Given the description of an element on the screen output the (x, y) to click on. 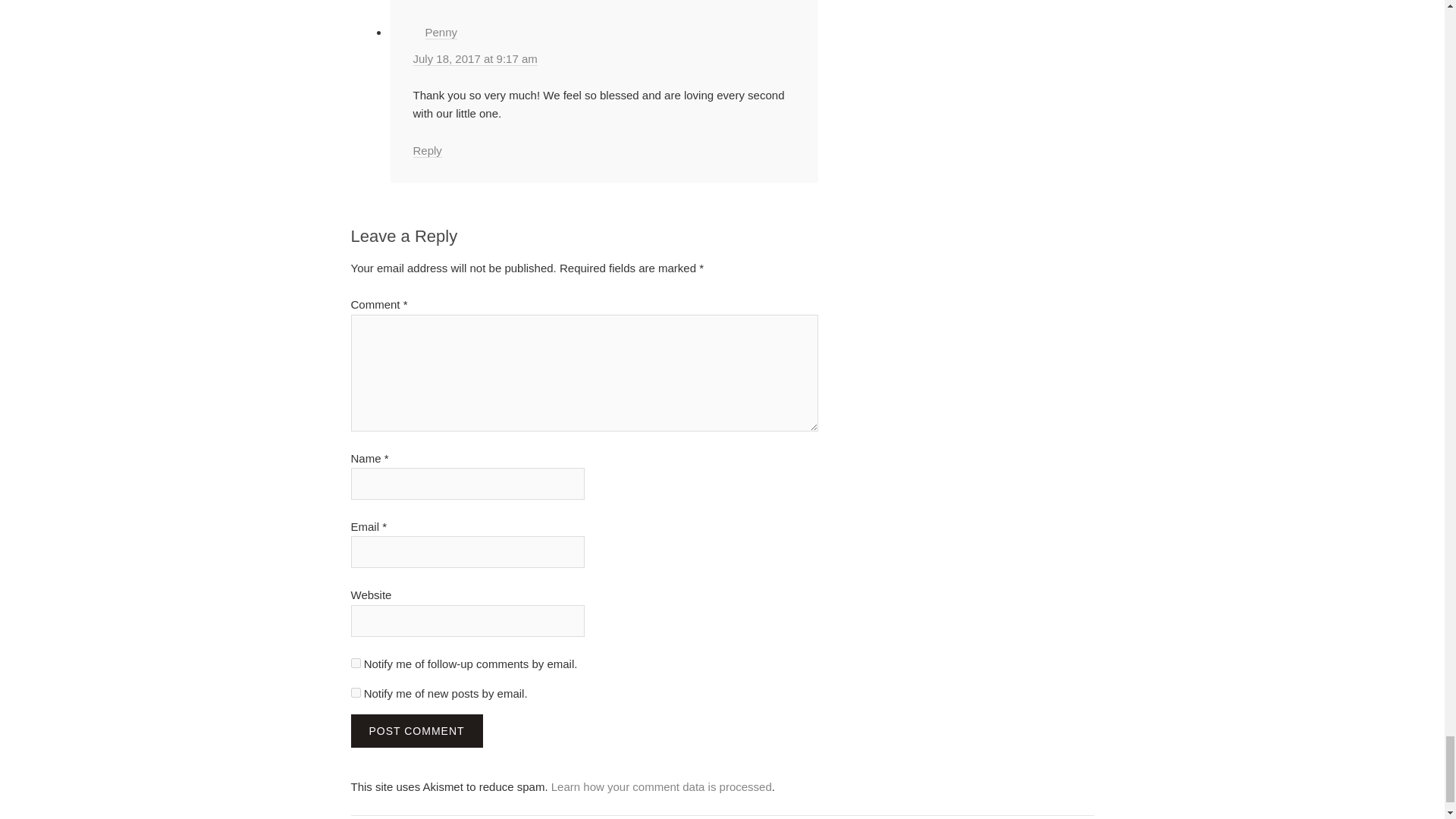
subscribe (354, 663)
Post Comment (415, 730)
subscribe (354, 692)
